Given the description of an element on the screen output the (x, y) to click on. 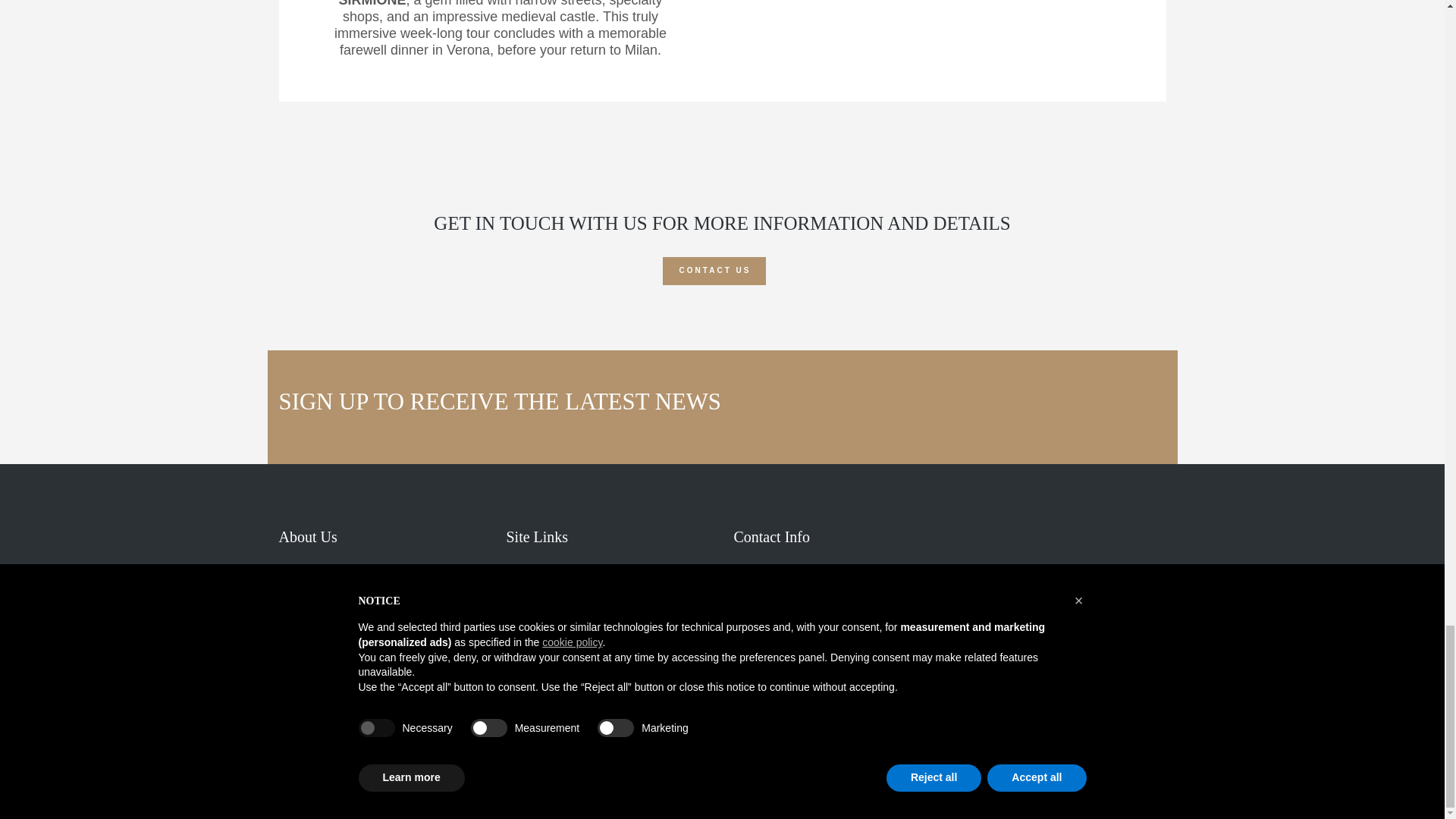
Privacy Policy (312, 794)
Cookie Policy (386, 794)
CONTACT (541, 697)
CUSTOM TOURS (556, 584)
ABOUT US (542, 629)
Cookie Policy  (386, 794)
CLIENTS (539, 652)
GALLERY (540, 675)
ITINERARIES (547, 606)
CONTACT US (714, 271)
